Given the description of an element on the screen output the (x, y) to click on. 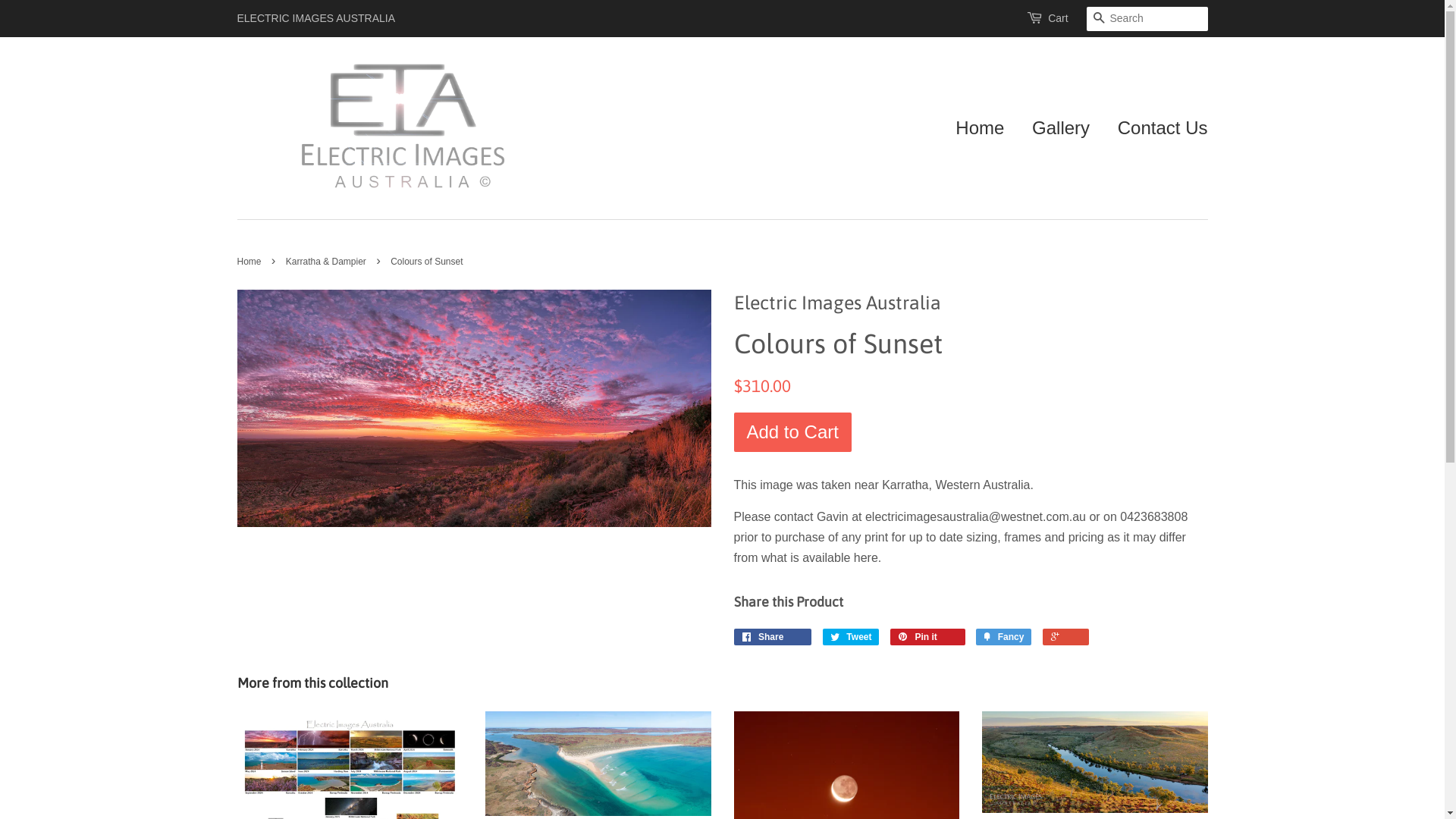
Add to Cart Element type: text (792, 431)
Gallery Element type: text (1060, 128)
Cart Element type: text (1057, 18)
Contact Us Element type: text (1157, 128)
Pin it Element type: text (927, 636)
Fancy Element type: text (1003, 636)
Share Element type: text (773, 636)
Search Element type: text (1097, 18)
Home Element type: text (250, 261)
Karratha & Dampier Element type: text (327, 261)
Home Element type: text (985, 128)
Tweet Element type: text (850, 636)
